Given the description of an element on the screen output the (x, y) to click on. 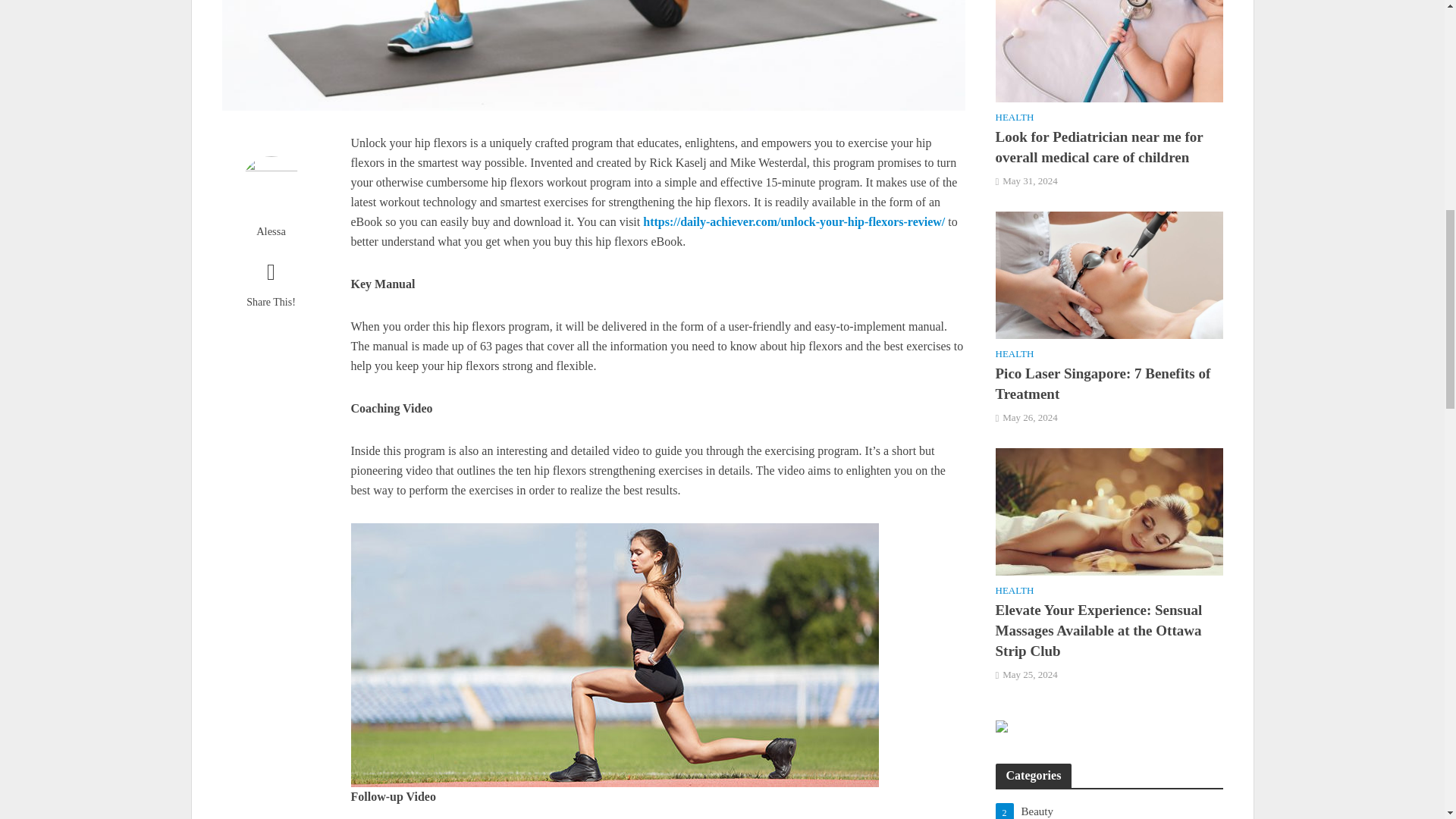
Alessa (270, 231)
Pico Laser Singapore: 7 Benefits of Treatment (1108, 273)
